Given the description of an element on the screen output the (x, y) to click on. 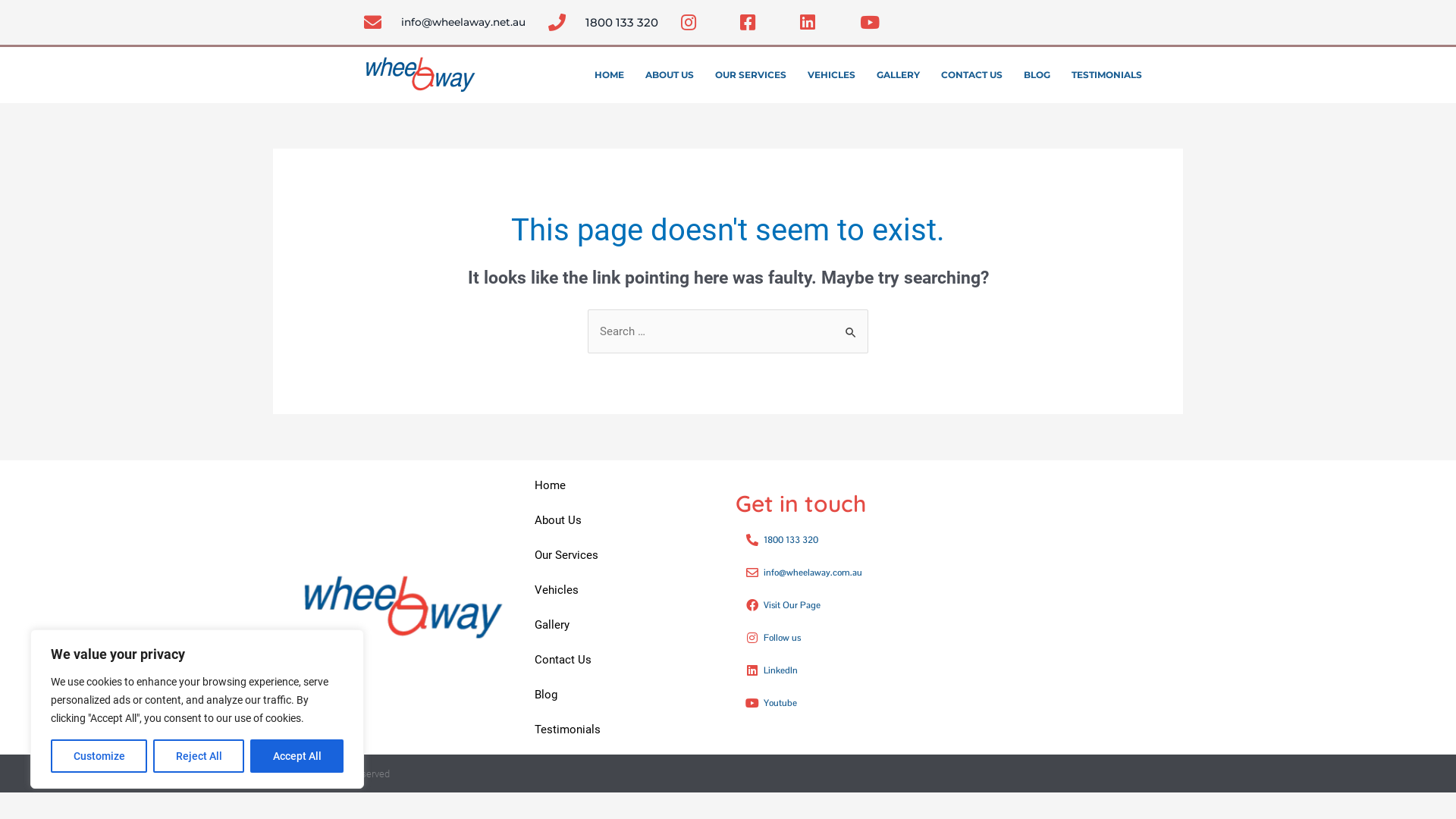
GALLERY Element type: text (898, 74)
ABOUT US Element type: text (669, 74)
1800 133 320 Element type: text (840, 539)
Gallery Element type: text (619, 624)
LinkedIn Element type: text (840, 670)
Search Element type: text (851, 324)
Vehicles Element type: text (619, 589)
Home Element type: text (619, 484)
About Us Element type: text (619, 519)
OUR SERVICES Element type: text (750, 74)
Github Element type: text (1109, 18)
Reject All Element type: text (198, 755)
info@wheelaway.com.au Element type: text (840, 572)
TESTIMONIALS Element type: text (1106, 74)
Twitter Element type: text (998, 773)
Dribbble Element type: text (1057, 773)
Youtube Element type: text (840, 702)
HOME Element type: text (608, 74)
Accept All Element type: text (296, 755)
Visit Our Page Element type: text (840, 604)
info@wheelaway.net.au Element type: text (444, 22)
Facebook Element type: text (1028, 773)
Twitter Element type: text (1078, 18)
Our Services Element type: text (619, 554)
Follow us Element type: text (840, 637)
Blog Element type: text (619, 694)
Pinterest Element type: text (1117, 773)
BLOG Element type: text (1036, 74)
Medium Element type: text (1146, 773)
Testimonials Element type: text (619, 729)
Contact Us Element type: text (619, 659)
Bitbucket Element type: text (1140, 18)
Youtube Element type: text (1087, 773)
CONTACT US Element type: text (971, 74)
Facebook Element type: text (1047, 18)
Customize Element type: text (98, 755)
7 Jordon Court, Boronia, VIC Element type: hover (1052, 607)
VEHICLES Element type: text (831, 74)
